Given the description of an element on the screen output the (x, y) to click on. 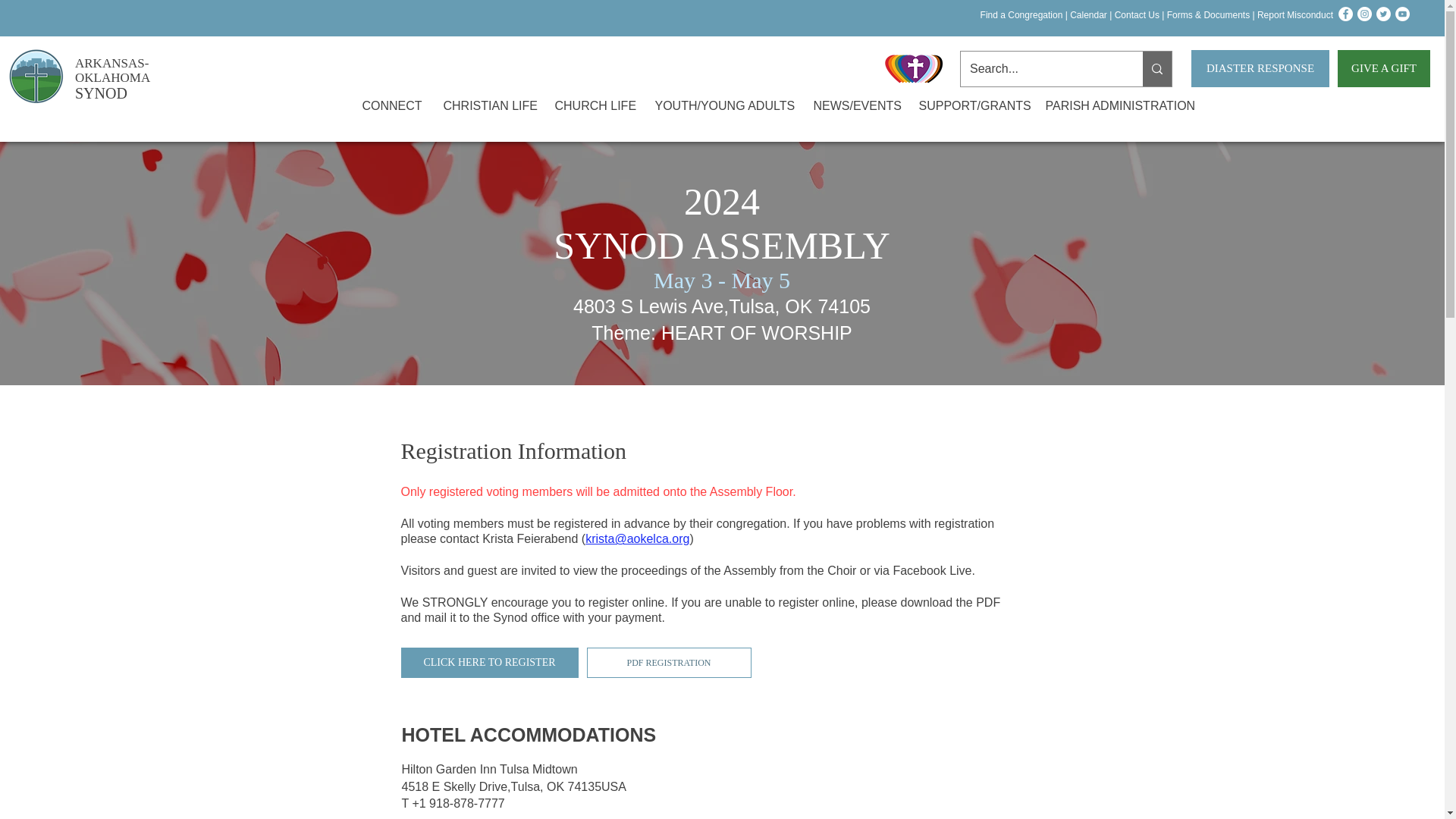
DIASTER RESPONSE (1260, 67)
 Find a Congregation (1019, 14)
Calendar (1088, 14)
Contact Us (1136, 14)
GIVE A GIFT (1383, 67)
ARKANSAS-OKLAHOMA (112, 70)
SYNOD (101, 93)
 Report Misconduct (1294, 14)
